Given the description of an element on the screen output the (x, y) to click on. 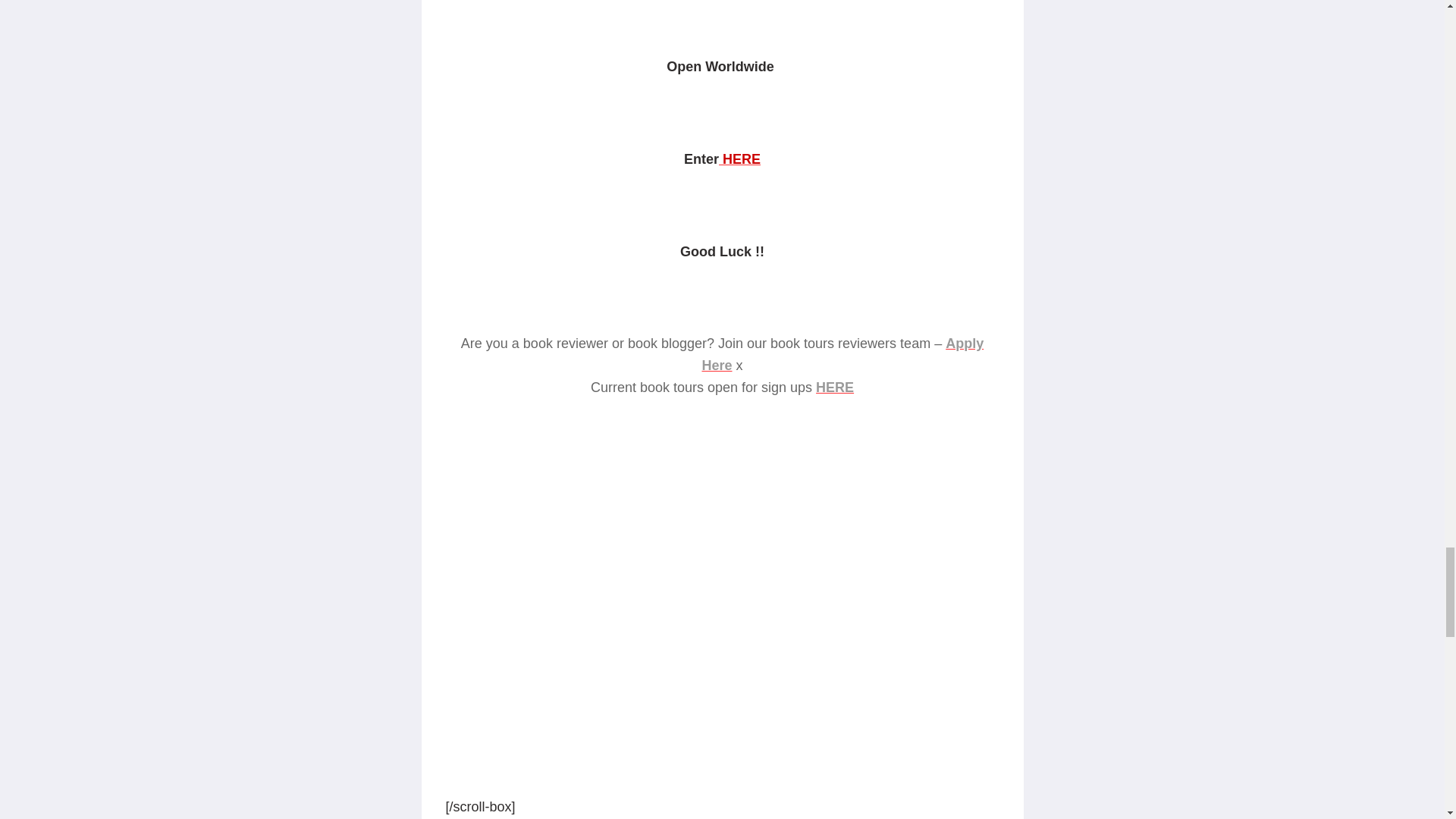
HERE (834, 387)
HERE (739, 159)
Apply Here (842, 354)
